Given the description of an element on the screen output the (x, y) to click on. 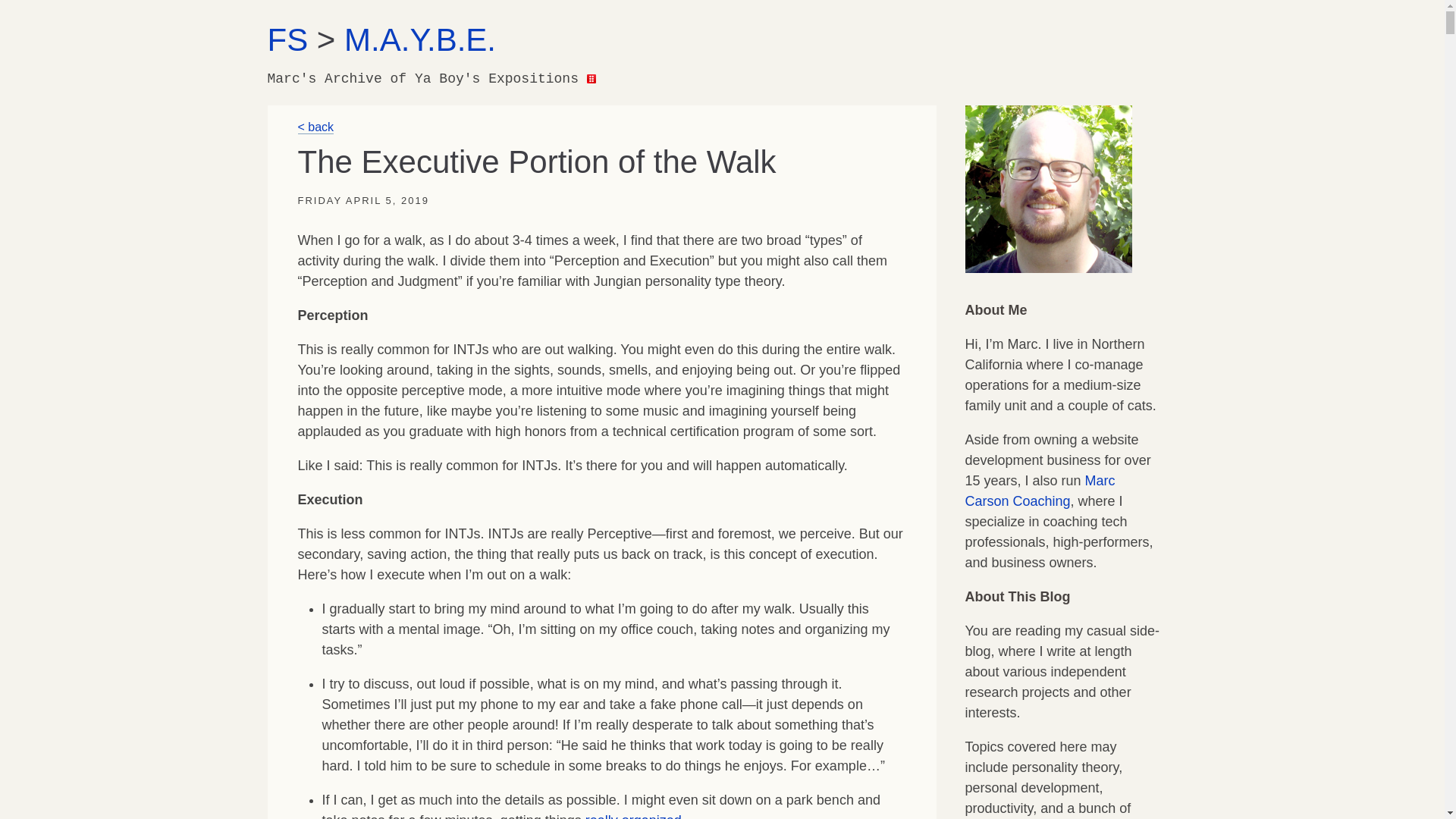
Marc Carson Coaching (1039, 490)
really organized (633, 816)
FS (286, 39)
M.A.Y.B.E. (419, 39)
